Given the description of an element on the screen output the (x, y) to click on. 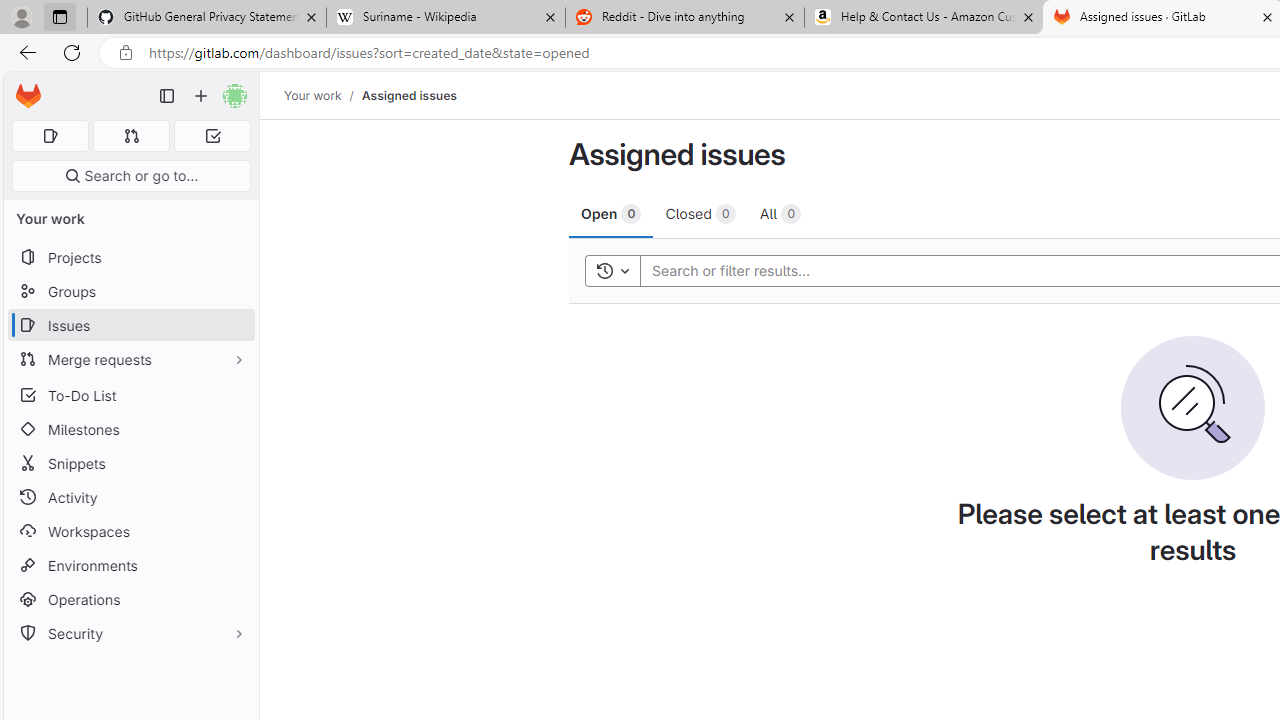
Environments (130, 564)
All 0 (780, 213)
GitHub General Privacy Statement - GitHub Docs (207, 17)
Projects (130, 257)
Milestones (130, 429)
Projects (130, 257)
Skip to main content (23, 87)
Issues (130, 325)
Homepage (27, 96)
Security (130, 633)
Activity (130, 497)
